Given the description of an element on the screen output the (x, y) to click on. 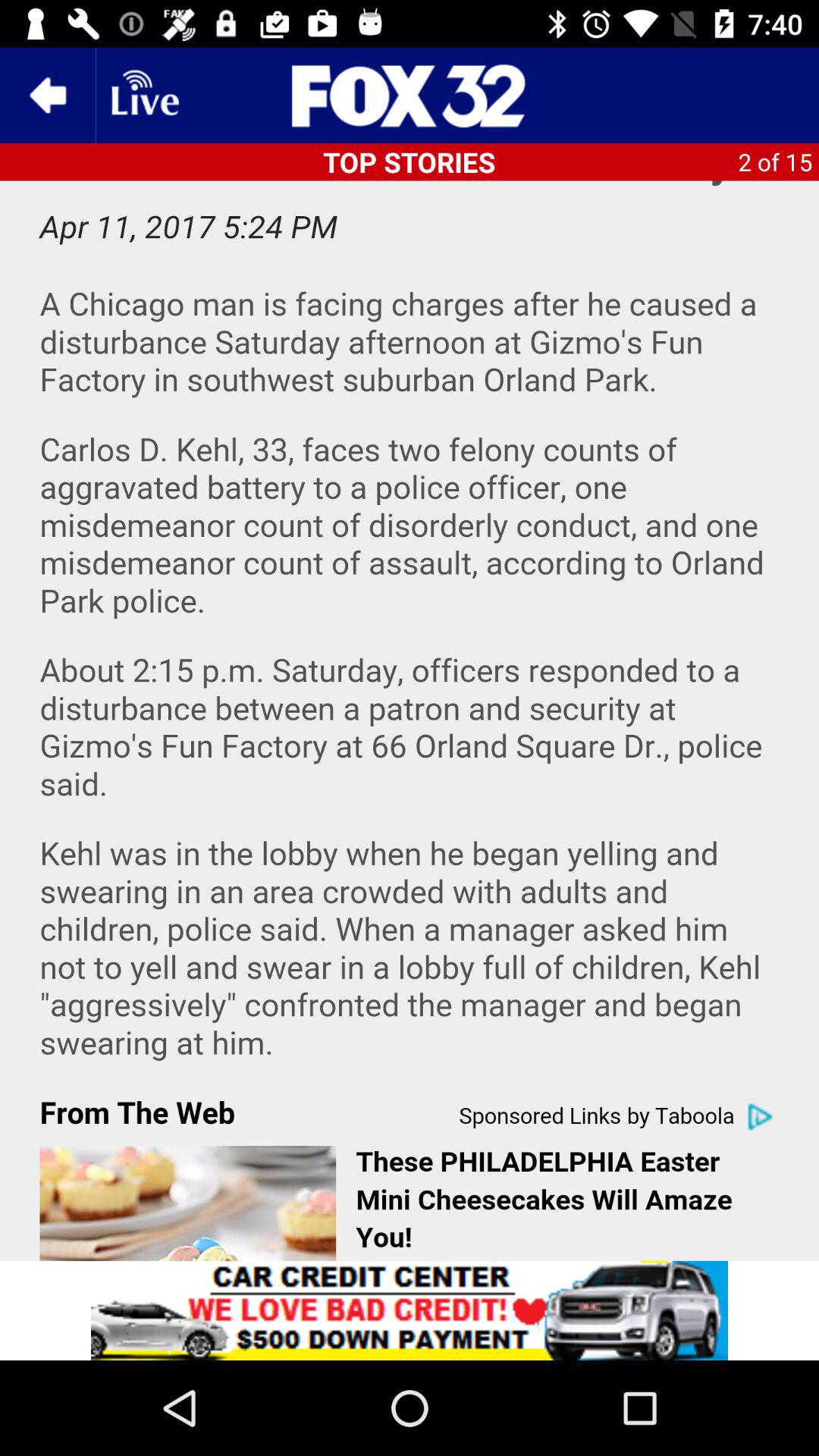
go to the previous screen (47, 95)
